Given the description of an element on the screen output the (x, y) to click on. 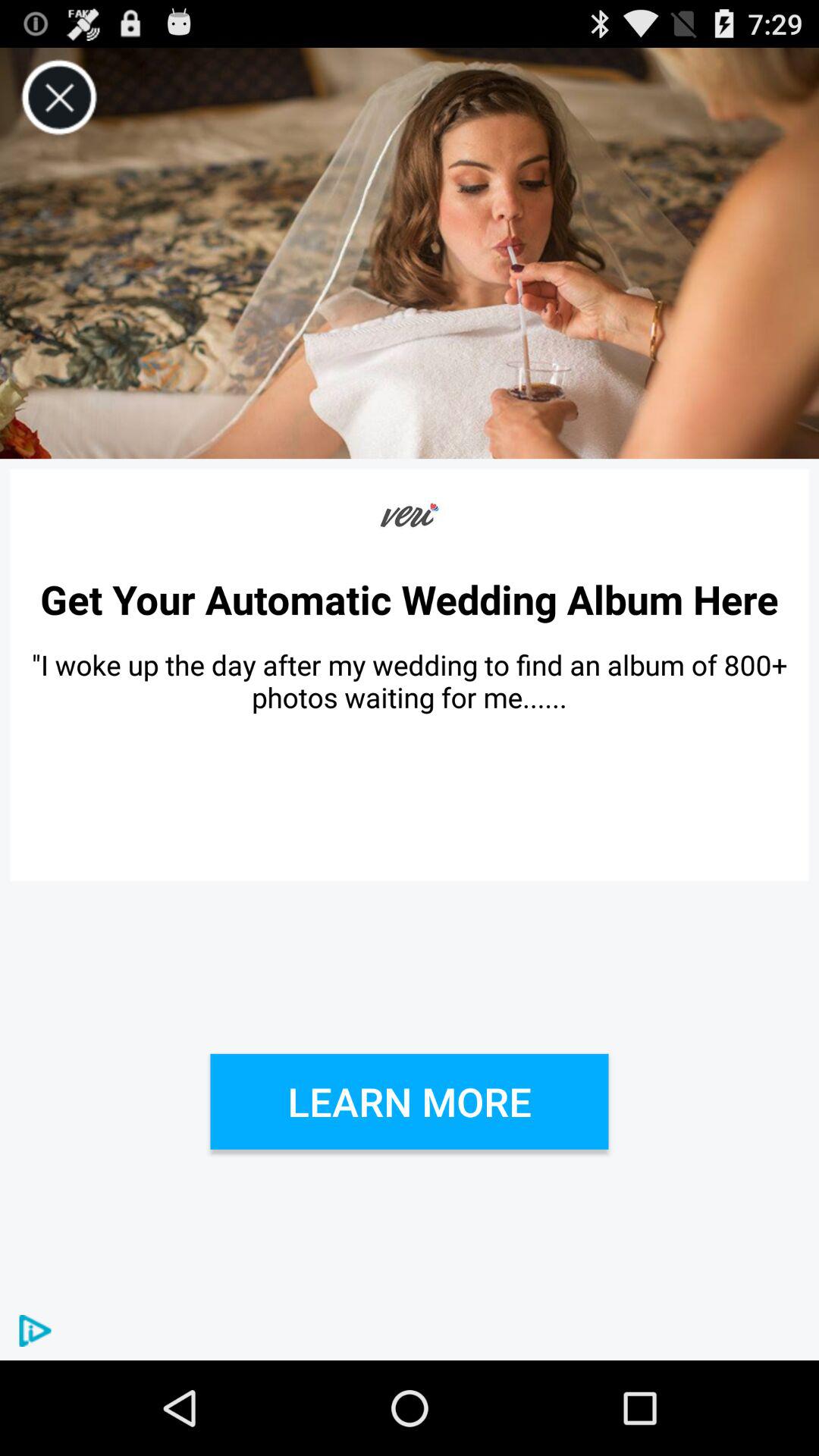
turn on icon below get your automatic app (409, 680)
